Given the description of an element on the screen output the (x, y) to click on. 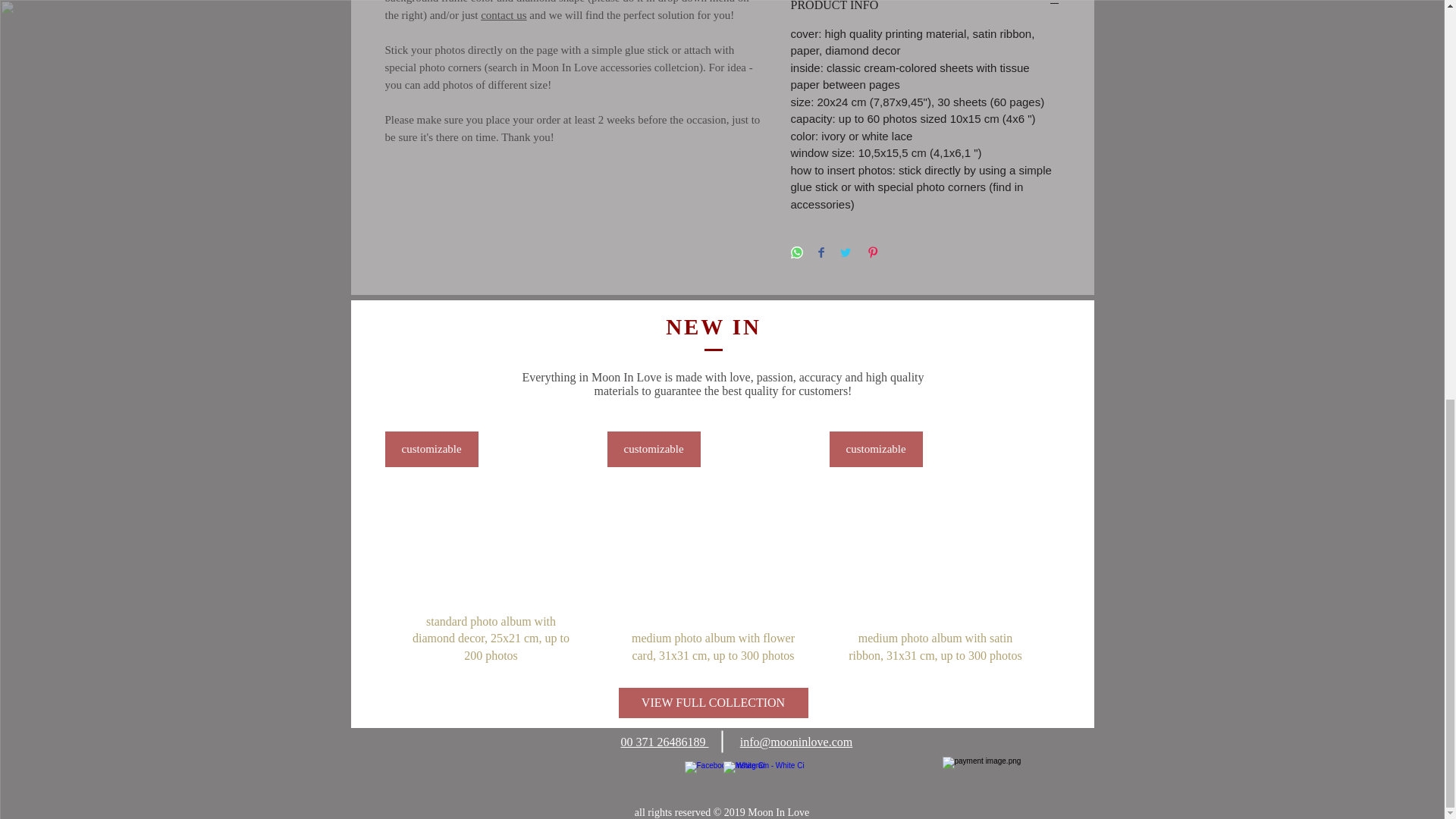
VIEW FULL COLLECTION (713, 702)
contact us (502, 15)
00 371 26486189  (663, 741)
PRODUCT INFO (924, 6)
